Given the description of an element on the screen output the (x, y) to click on. 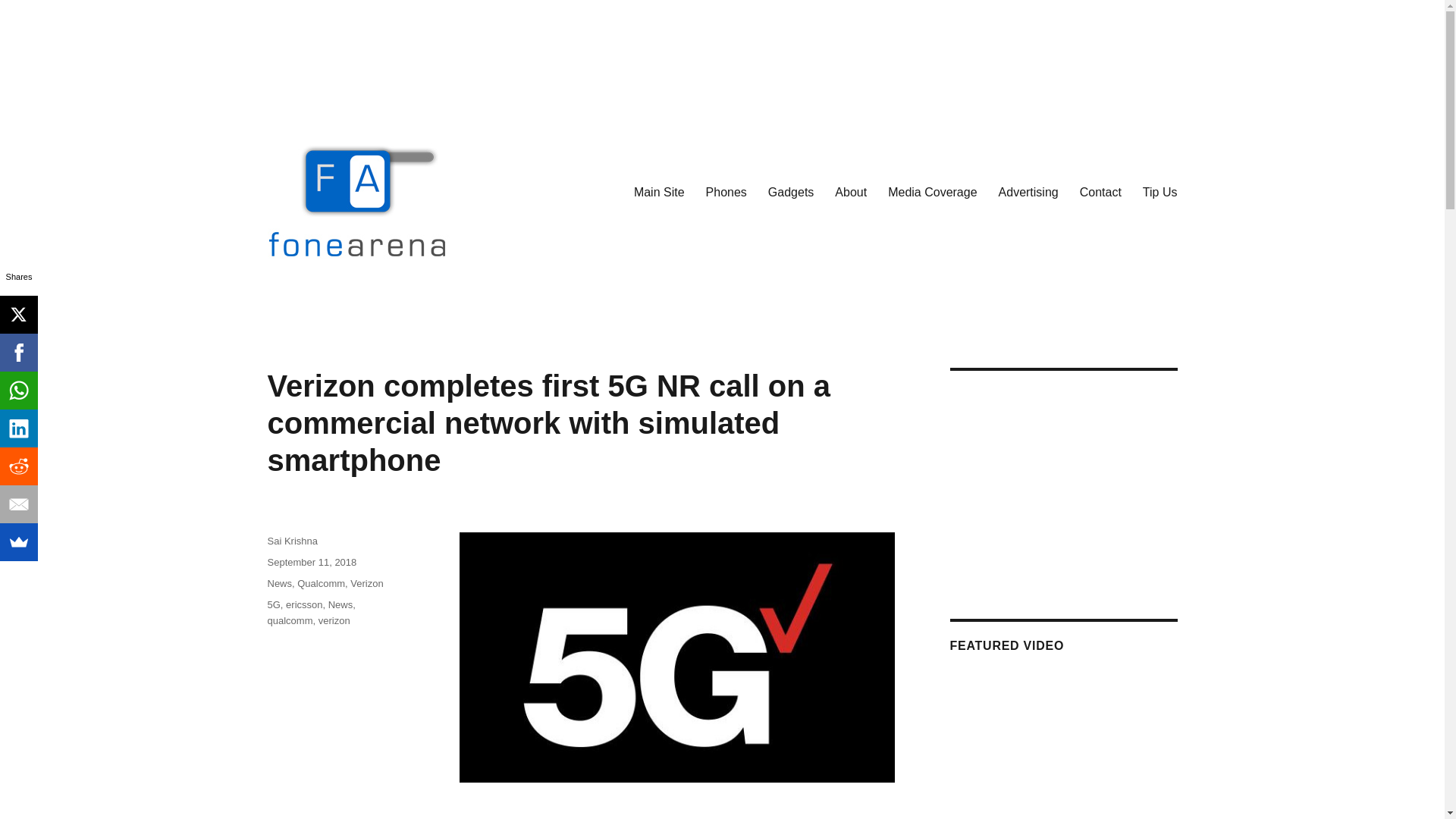
News (341, 604)
Sai Krishna (291, 541)
5G (272, 604)
Media Coverage (932, 192)
ericsson (303, 604)
Facebook (18, 352)
Main Site (659, 192)
Reddit (18, 466)
Contact (1100, 192)
WhatsApp (18, 390)
Fone Arena (324, 306)
X (18, 314)
Gadgets (790, 192)
Phones (726, 192)
Verizon (366, 583)
